Given the description of an element on the screen output the (x, y) to click on. 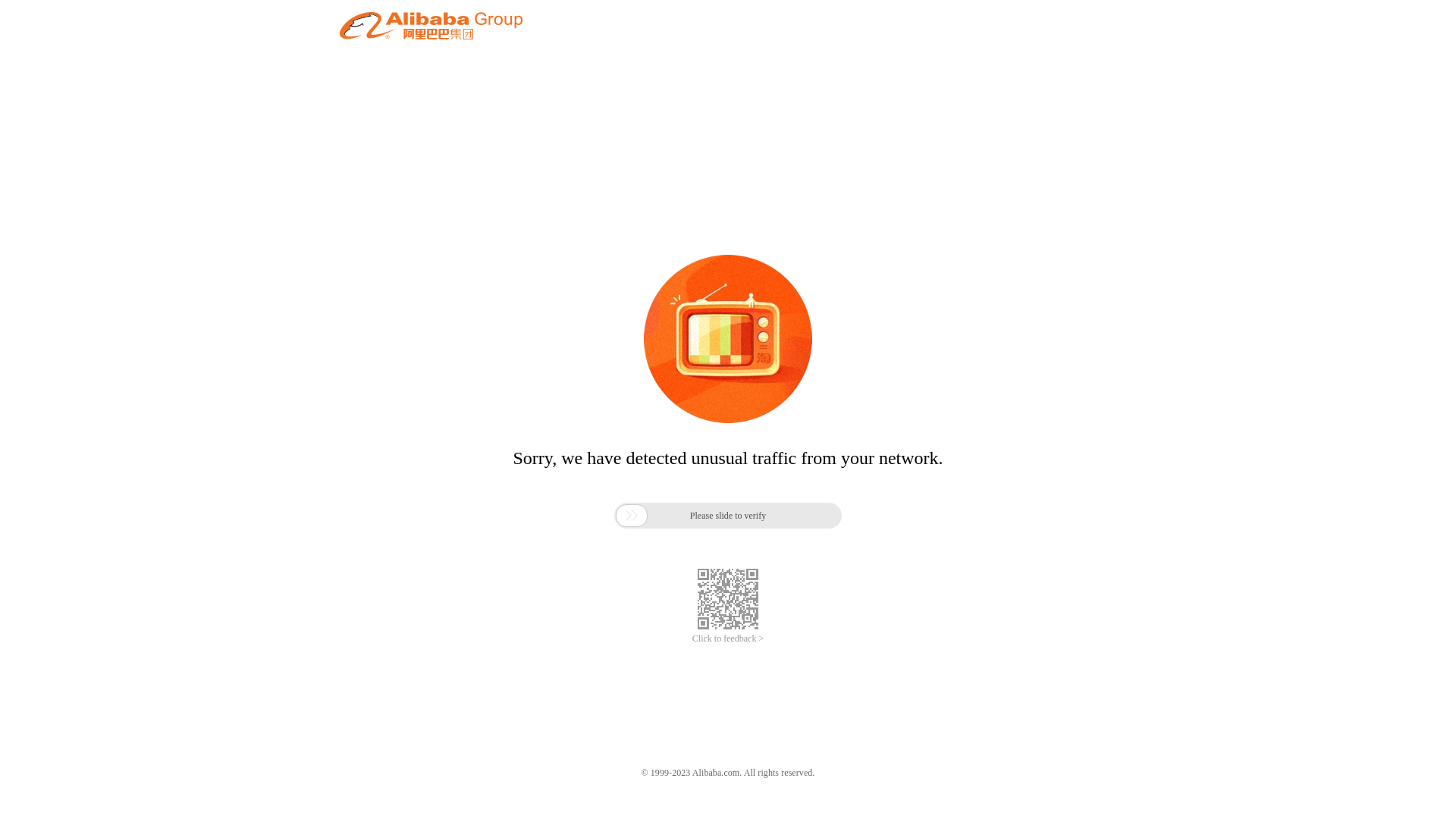
Click to feedback > Element type: text (727, 638)
